Given the description of an element on the screen output the (x, y) to click on. 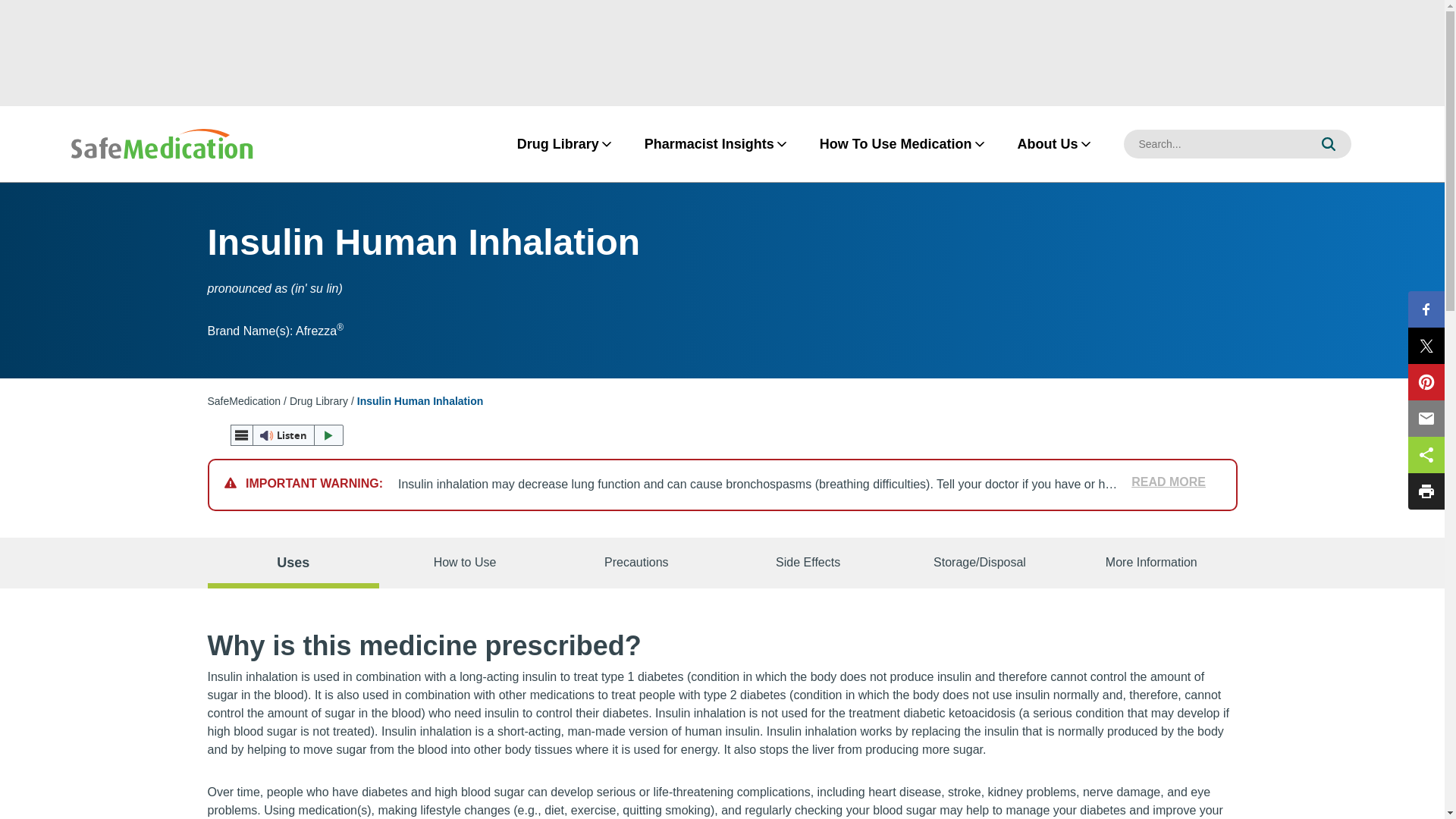
How to Use (464, 562)
Drug Library (558, 143)
Precautions (636, 562)
Listen to this page using ReadSpeaker webReader (286, 435)
More Information (1150, 562)
Insert a query. Press enter to send (1215, 143)
Pharmacist Insights (708, 143)
Side Effects (807, 562)
How To Use Medication (895, 143)
Uses (293, 562)
IMPORTANT WARNING: (310, 484)
About Us (1047, 143)
READ MORE (1161, 481)
webReader menu (241, 435)
SafeMedication (244, 400)
